Given the description of an element on the screen output the (x, y) to click on. 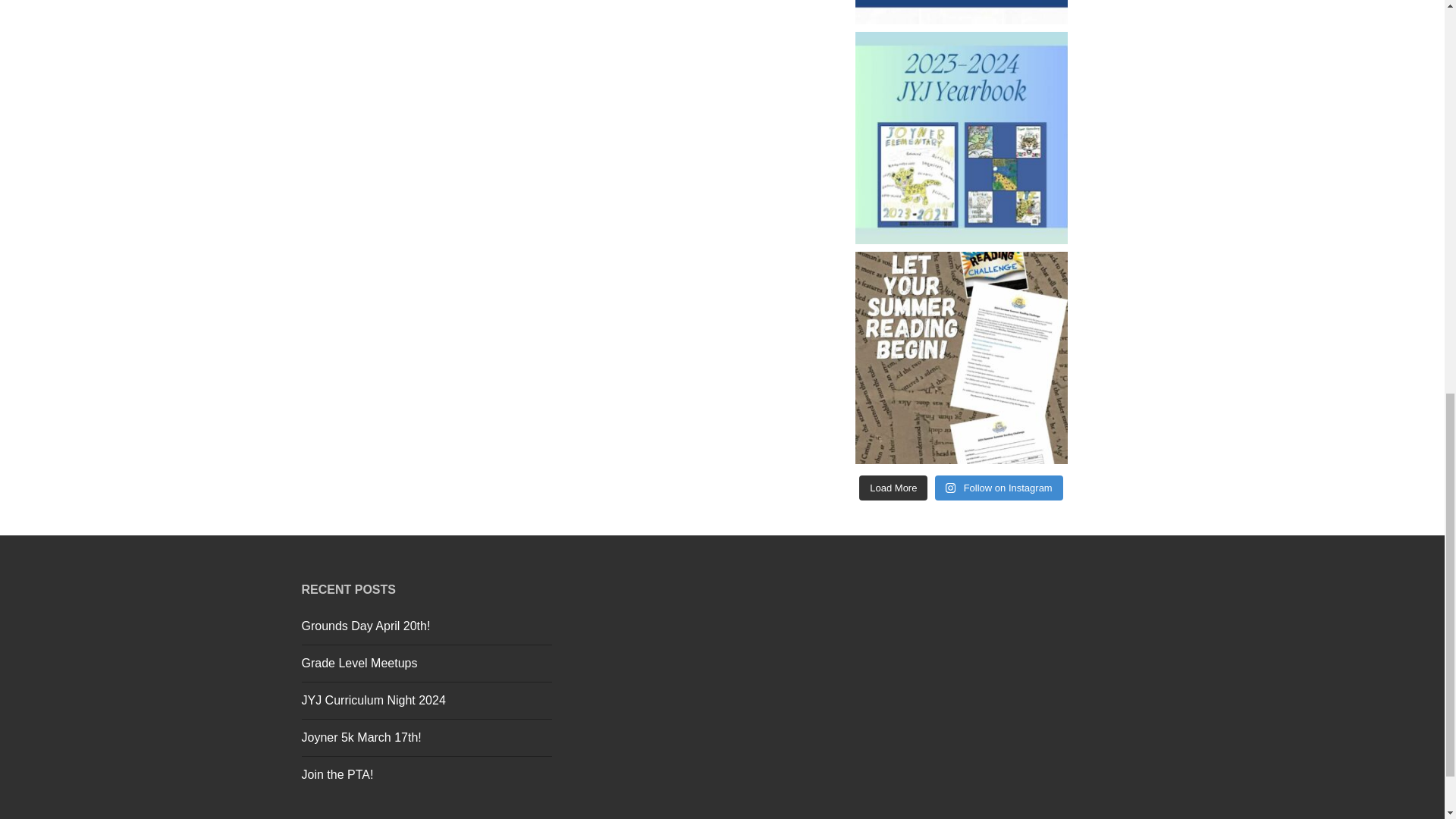
Load More (893, 488)
Joyner 5k March 17th! (361, 737)
JYJ Curriculum Night 2024 (373, 699)
Follow on Instagram (998, 488)
Grounds Day April 20th! (365, 625)
Join the PTA! (337, 774)
Grade Level Meetups (359, 662)
